Given the description of an element on the screen output the (x, y) to click on. 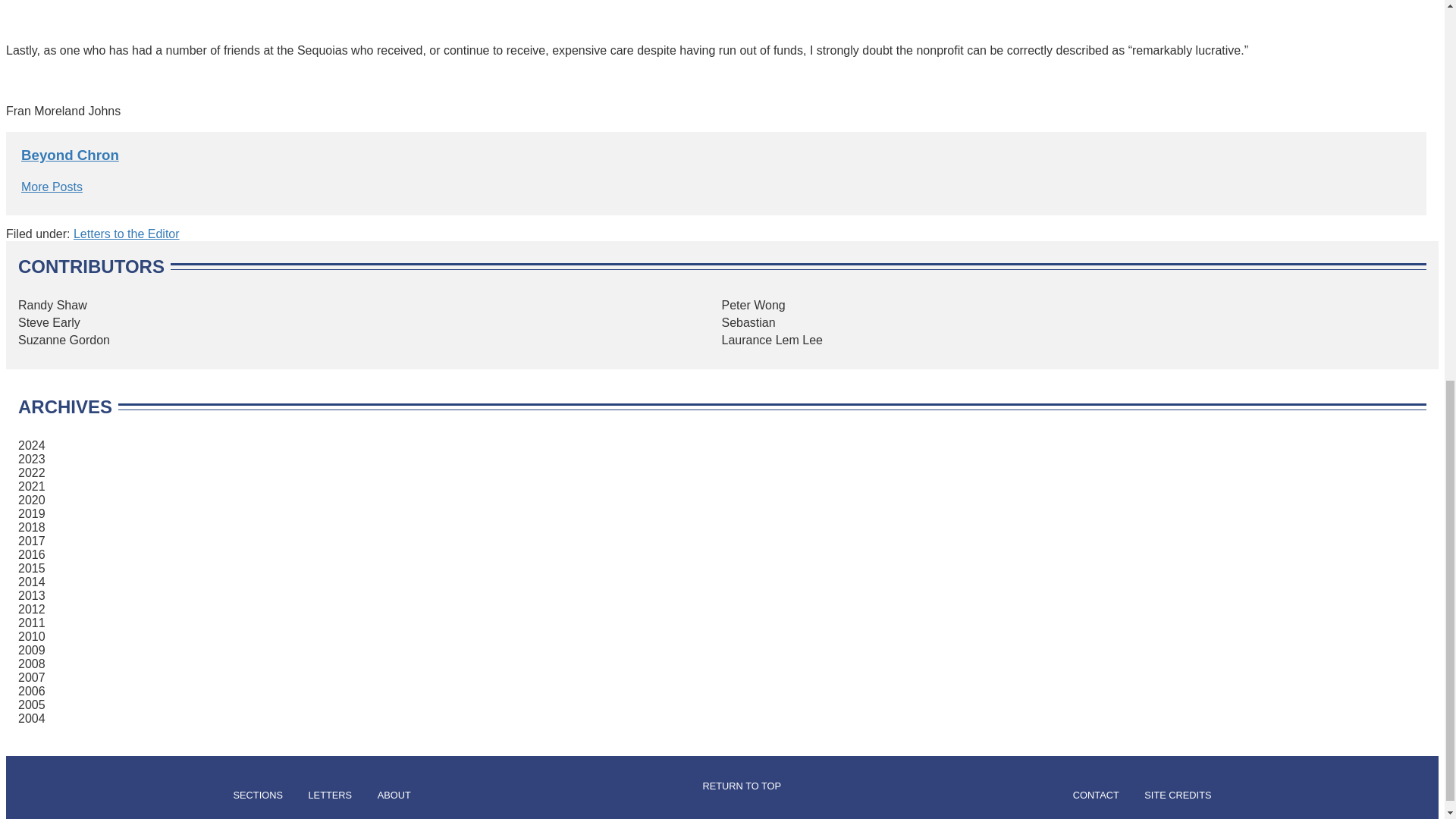
Steve Early (48, 322)
Randy Shaw (52, 305)
View Suzanne Gordon archive (63, 339)
Suzanne Gordon (63, 339)
View Steve Early archive (48, 322)
Letters to the Editor (126, 233)
View Randy Shaw archive (52, 305)
More Posts (51, 186)
Peter Wong (754, 305)
Laurance Lem Lee (772, 339)
